Given the description of an element on the screen output the (x, y) to click on. 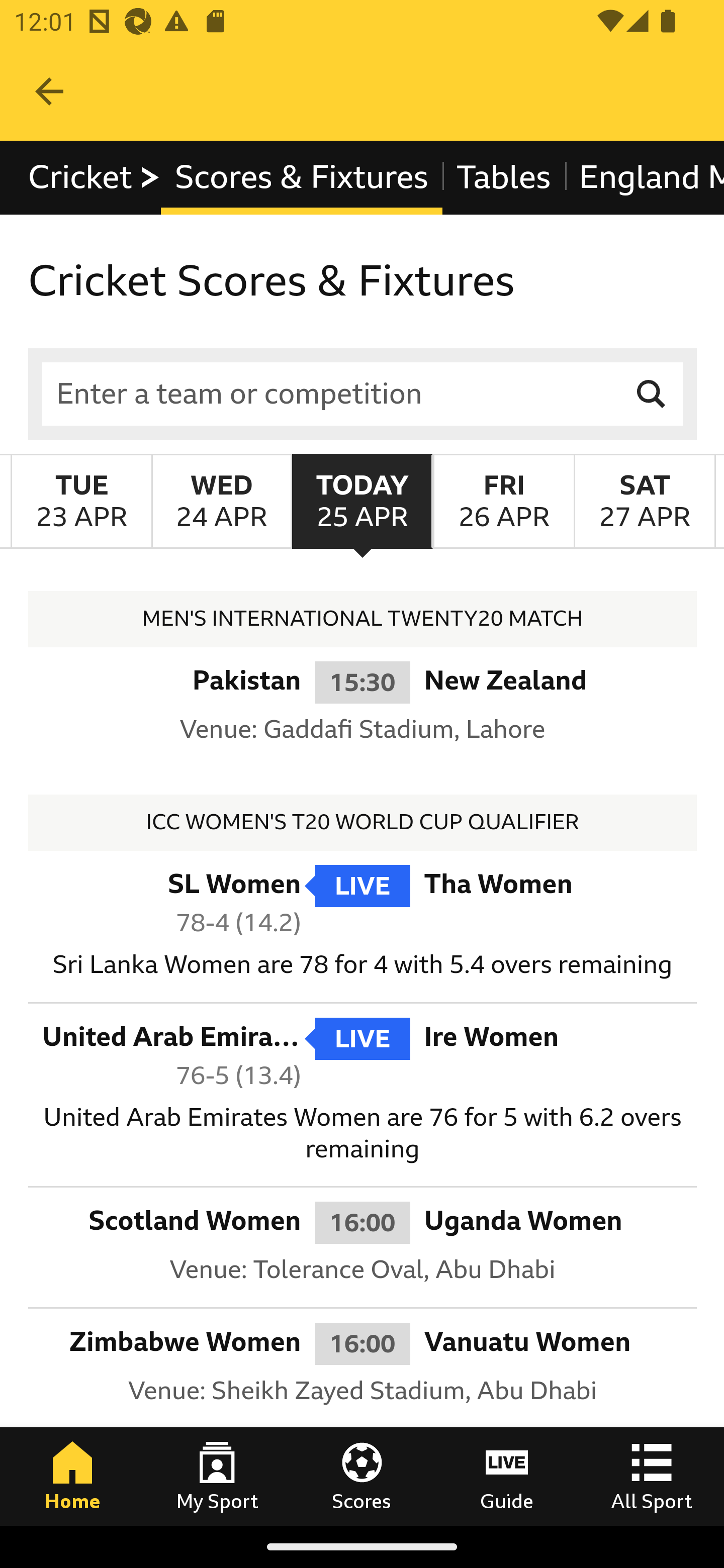
Navigate up (49, 91)
Cricket  (95, 177)
Scores & Fixtures (301, 177)
Tables (503, 177)
Search (651, 393)
TuesdayApril 23rd Tuesday April 23rd (81, 500)
WednesdayApril 24th Wednesday April 24th (221, 500)
FridayApril 26th Friday April 26th (502, 500)
SaturdayApril 27th Saturday April 27th (644, 500)
My Sport (216, 1475)
Scores (361, 1475)
Guide (506, 1475)
All Sport (651, 1475)
